Given the description of an element on the screen output the (x, y) to click on. 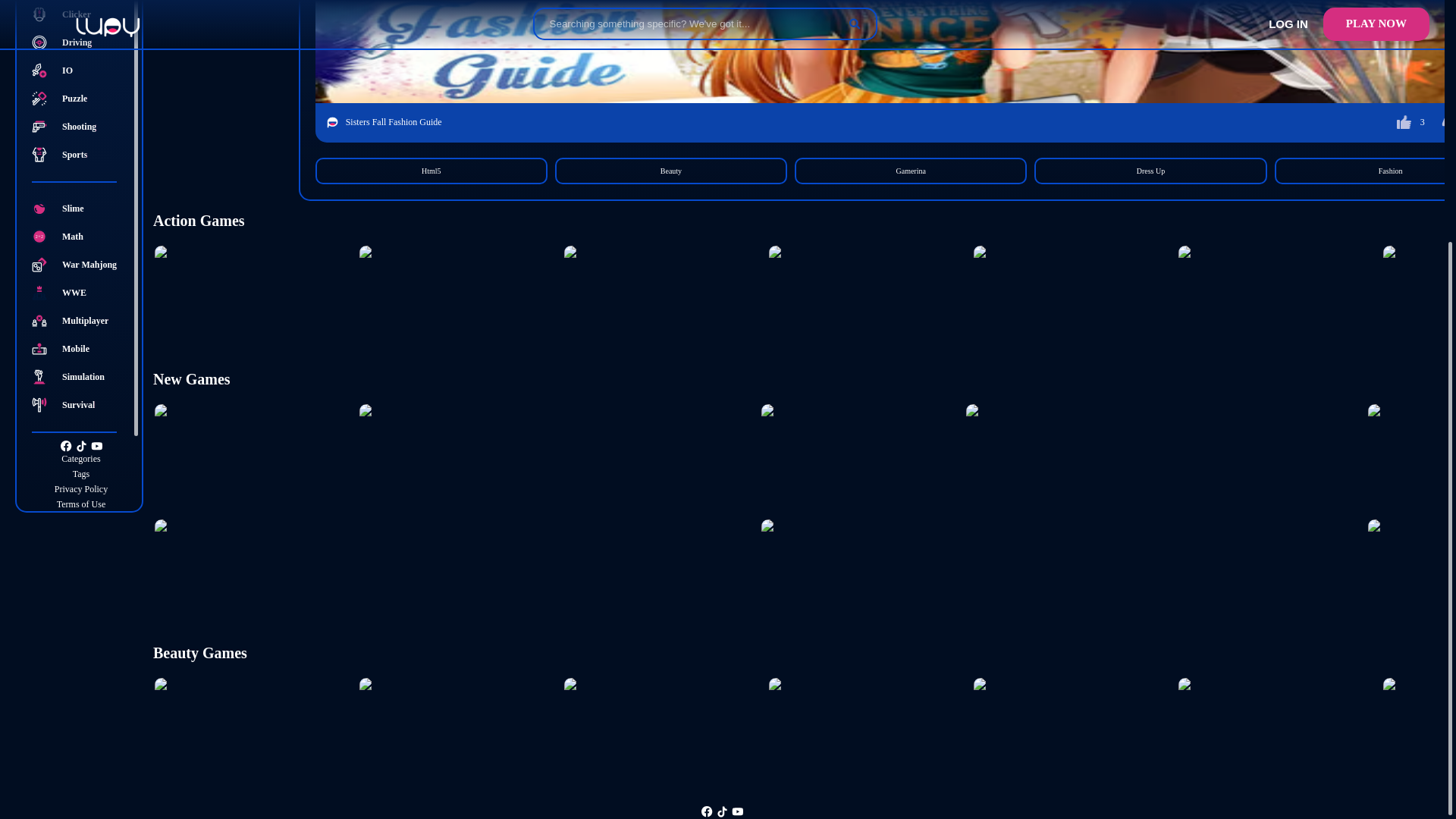
Sports (81, 153)
Simulation (81, 376)
Clicker (81, 14)
Igri Online (81, 549)
Shooting (81, 126)
Categories (81, 458)
Multiplayer (81, 321)
WWE (81, 292)
Mobile (81, 348)
Privacy Policy (81, 488)
